Given the description of an element on the screen output the (x, y) to click on. 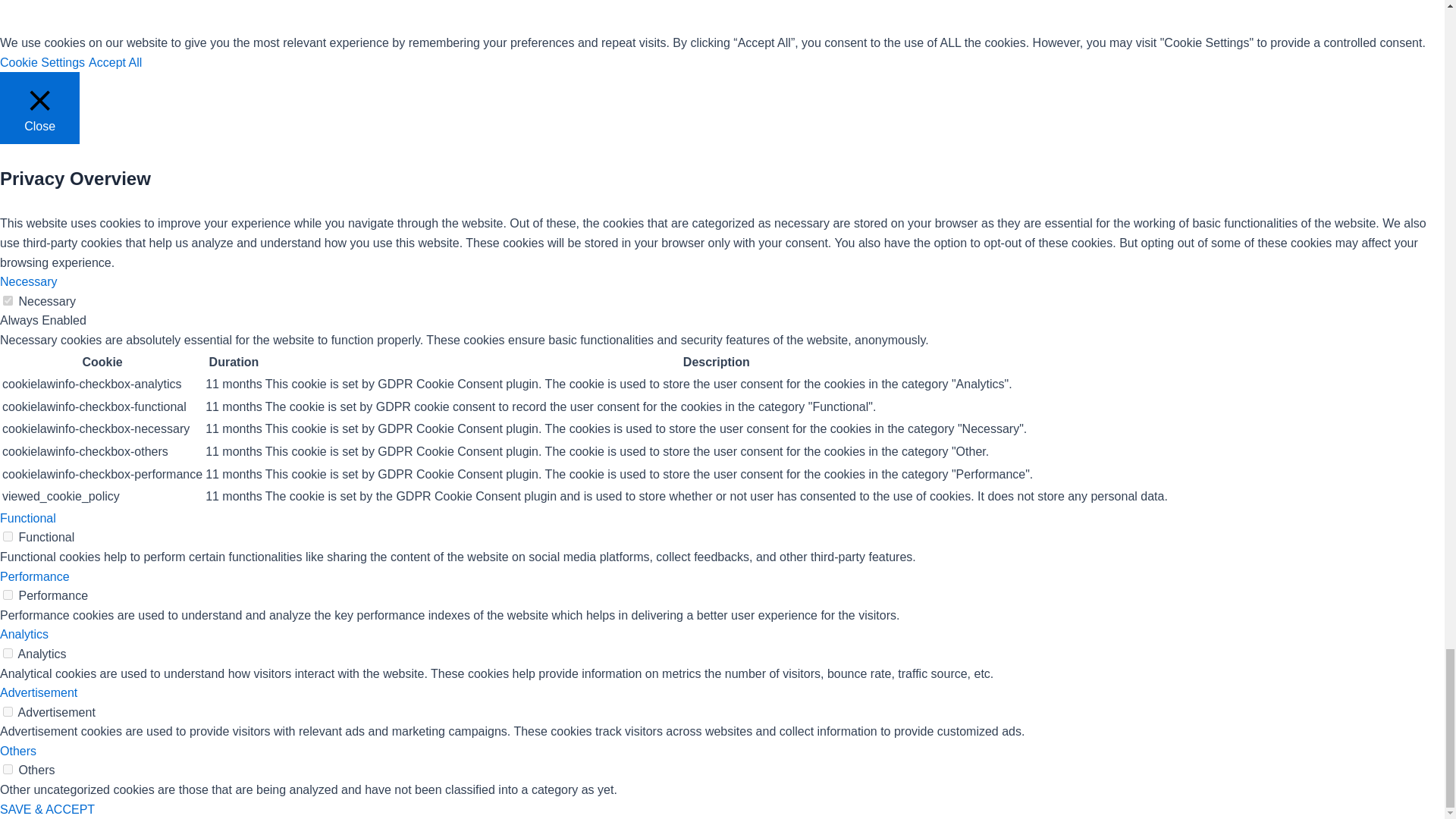
on (7, 768)
on (7, 711)
on (7, 536)
on (7, 594)
on (7, 653)
on (7, 300)
